Given the description of an element on the screen output the (x, y) to click on. 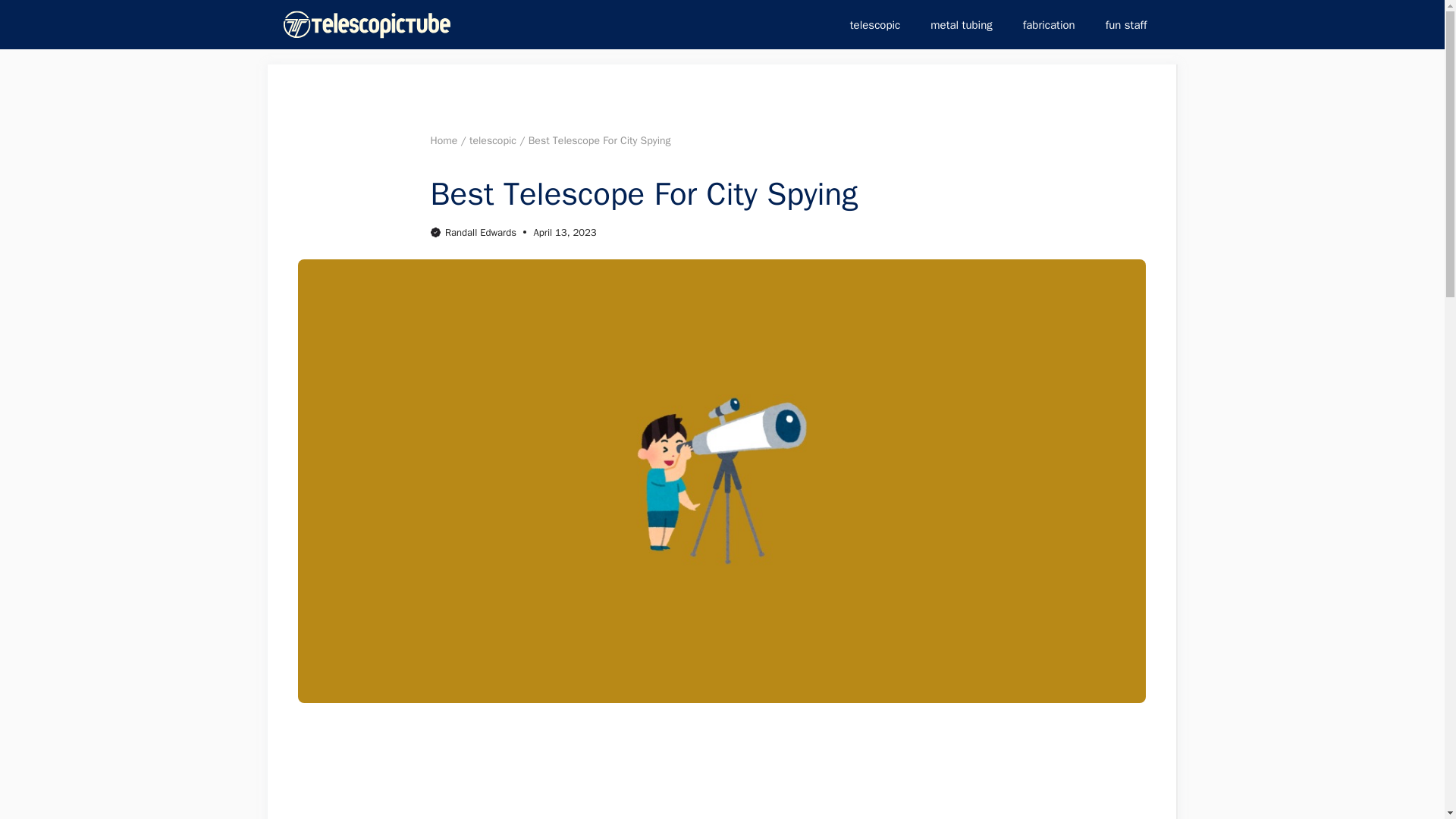
fun staff (1125, 23)
metal tubing (961, 23)
telescopic (874, 23)
telescopic (492, 140)
Randall Edwards (480, 232)
Home (444, 140)
fabrication (1048, 23)
Telescopic Tube (367, 24)
